Given the description of an element on the screen output the (x, y) to click on. 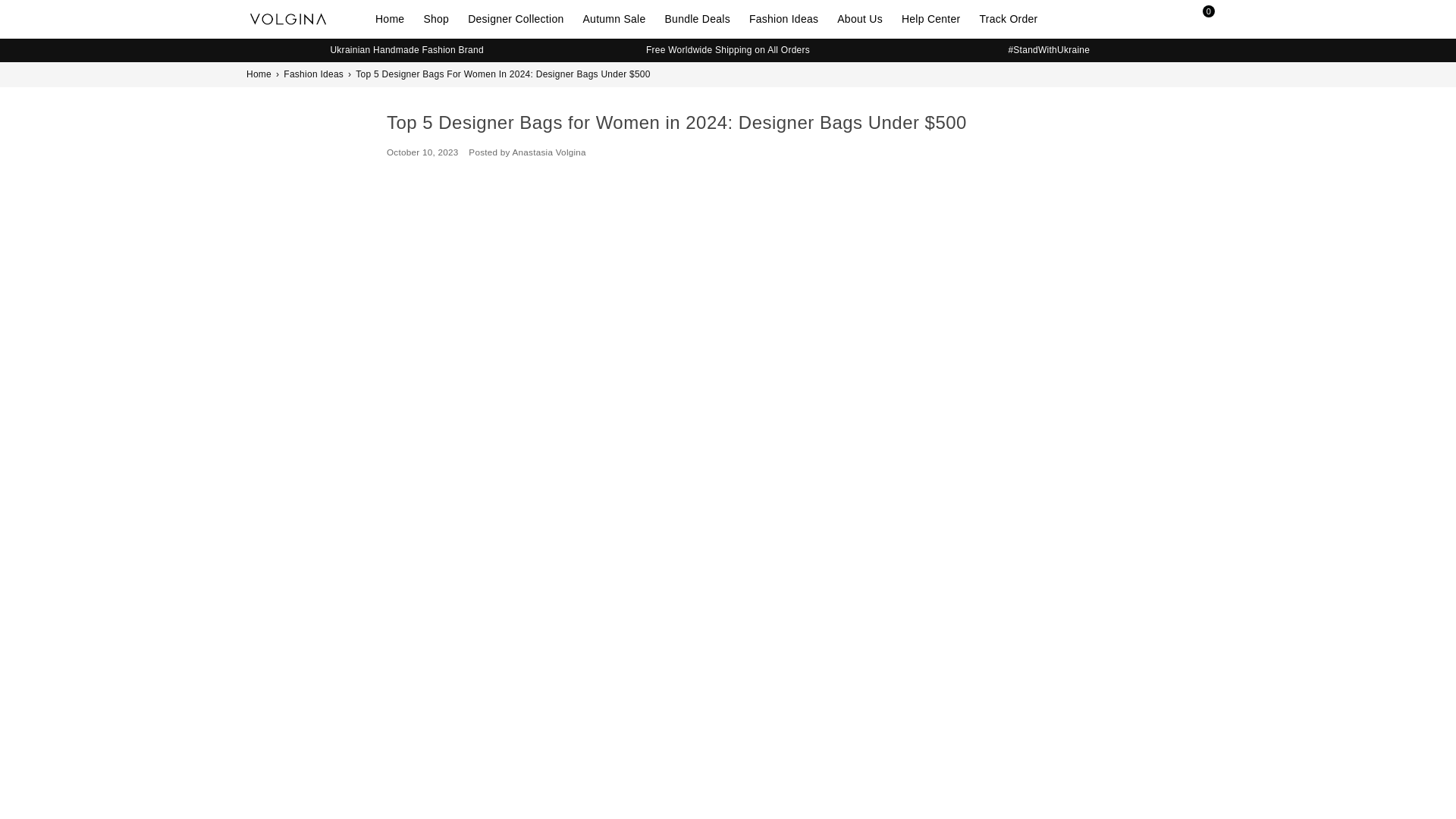
Help Center (936, 18)
Search (1168, 18)
0 (1195, 18)
About Us (865, 18)
Shop (441, 18)
Designer Collection (521, 18)
Back to the home page (259, 74)
Bundle Deals (703, 18)
Cart (1195, 18)
Home (394, 18)
Fashion Ideas (789, 18)
Track Order (1014, 18)
VOLGINA (310, 18)
Autumn Sale (619, 18)
